Given the description of an element on the screen output the (x, y) to click on. 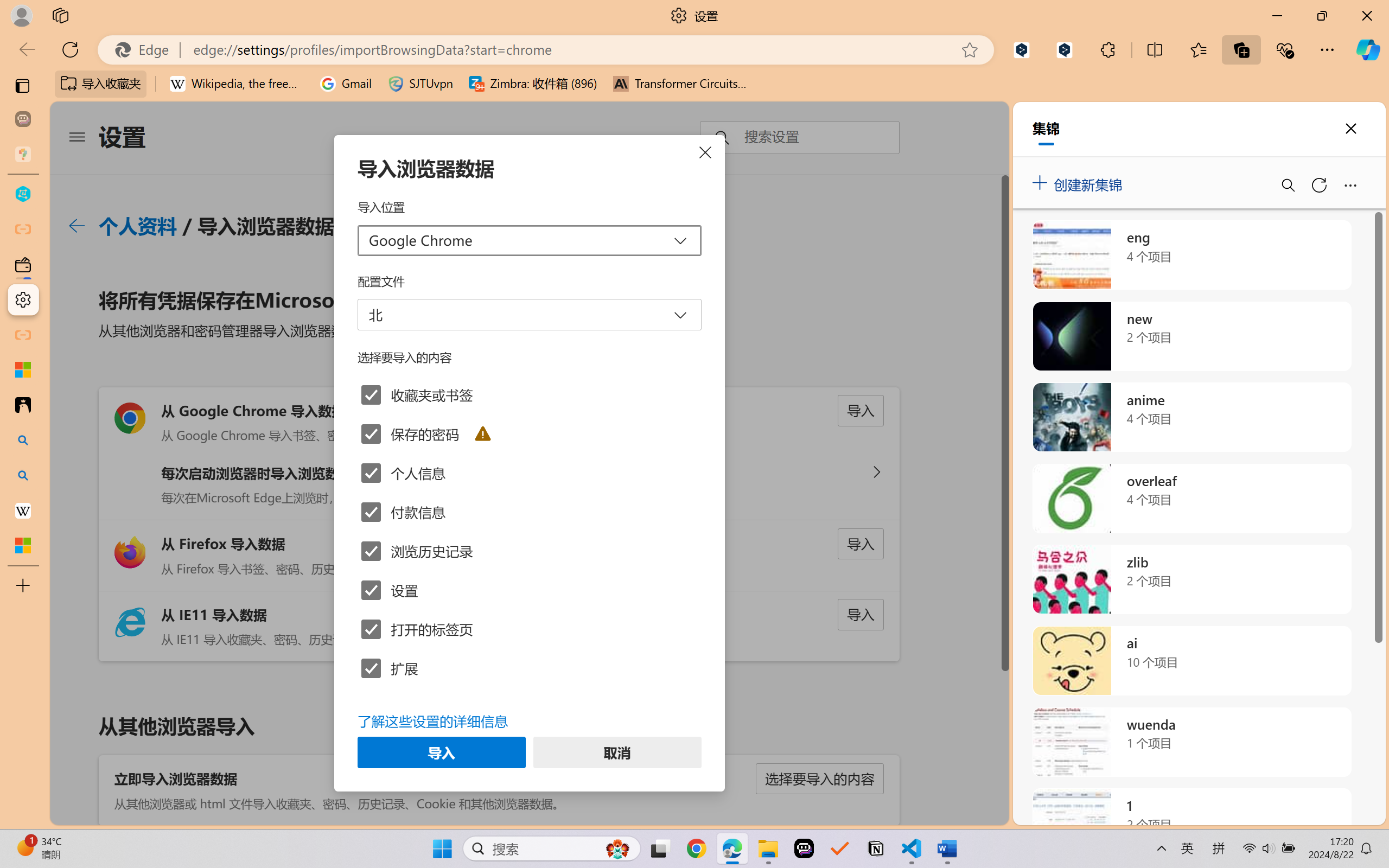
Edge (146, 49)
